Given the description of an element on the screen output the (x, y) to click on. 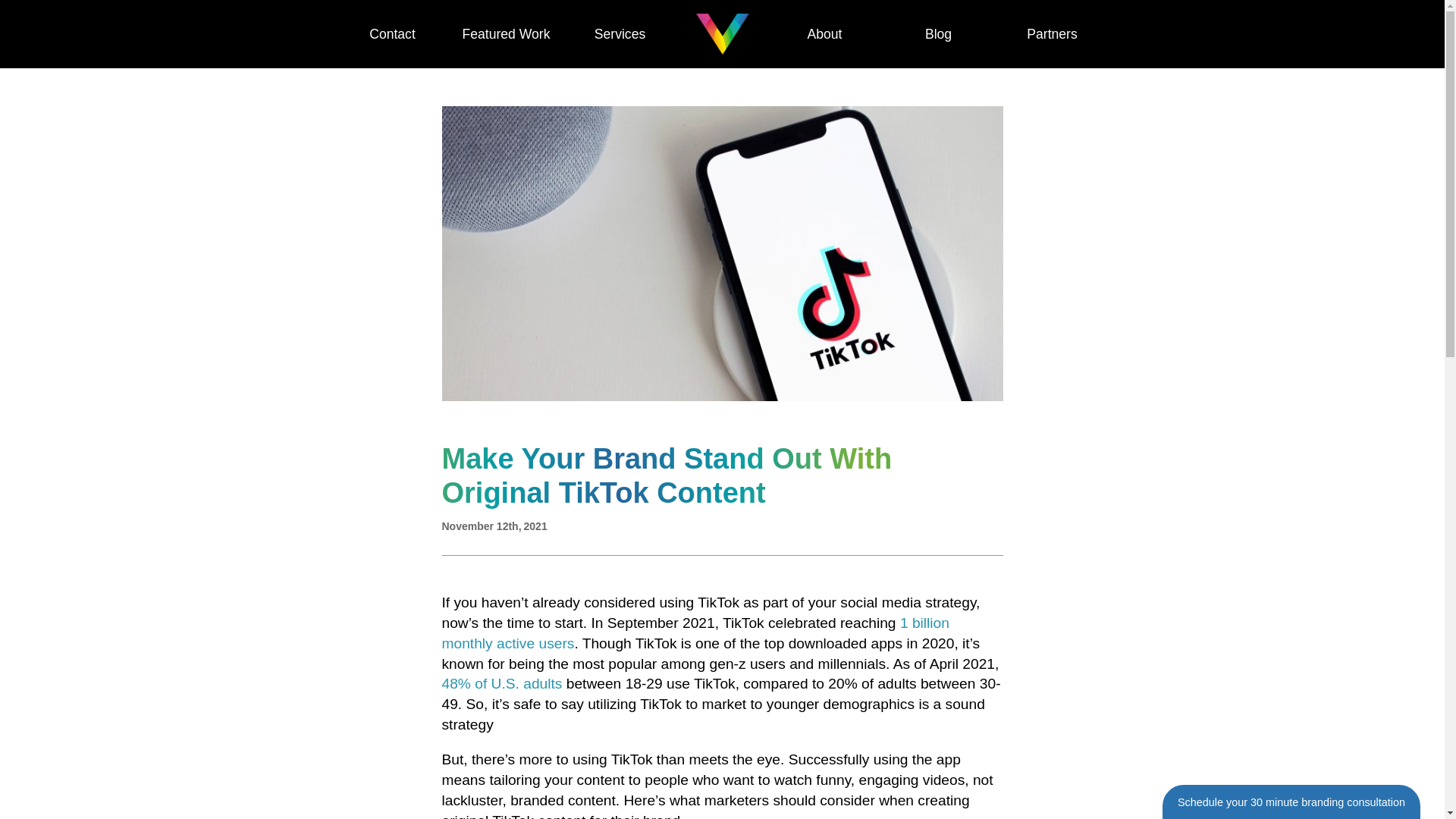
Partners (1051, 33)
Contact (391, 33)
About (823, 33)
Blog (937, 33)
Schedule your 30 minute branding consultation (1291, 800)
1 billion monthly active users (695, 633)
Services (619, 33)
Featured Work (505, 33)
